Given the description of an element on the screen output the (x, y) to click on. 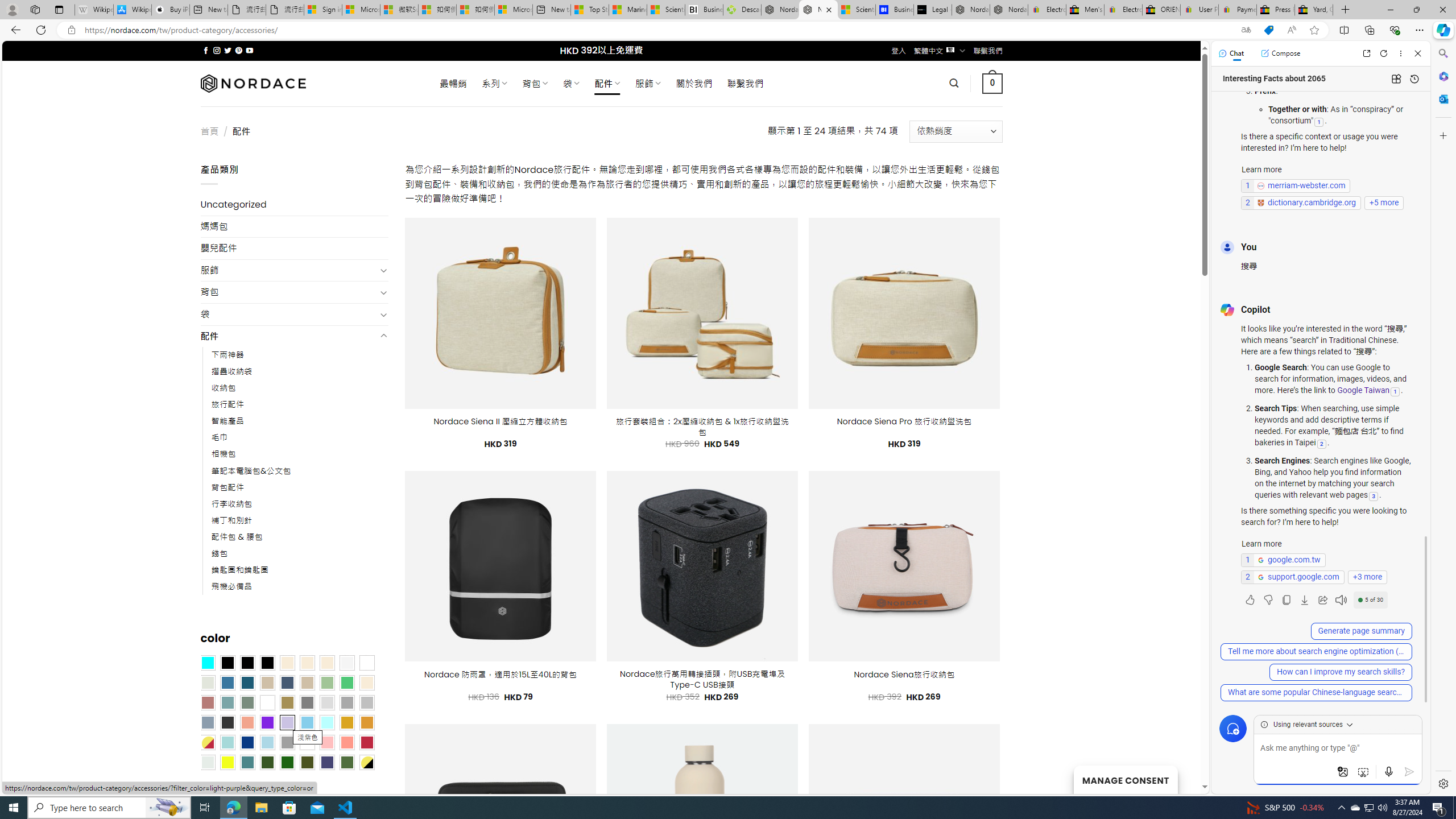
Show translate options (1245, 29)
Dull Nickle (207, 762)
Follow on Facebook (205, 50)
